Given the description of an element on the screen output the (x, y) to click on. 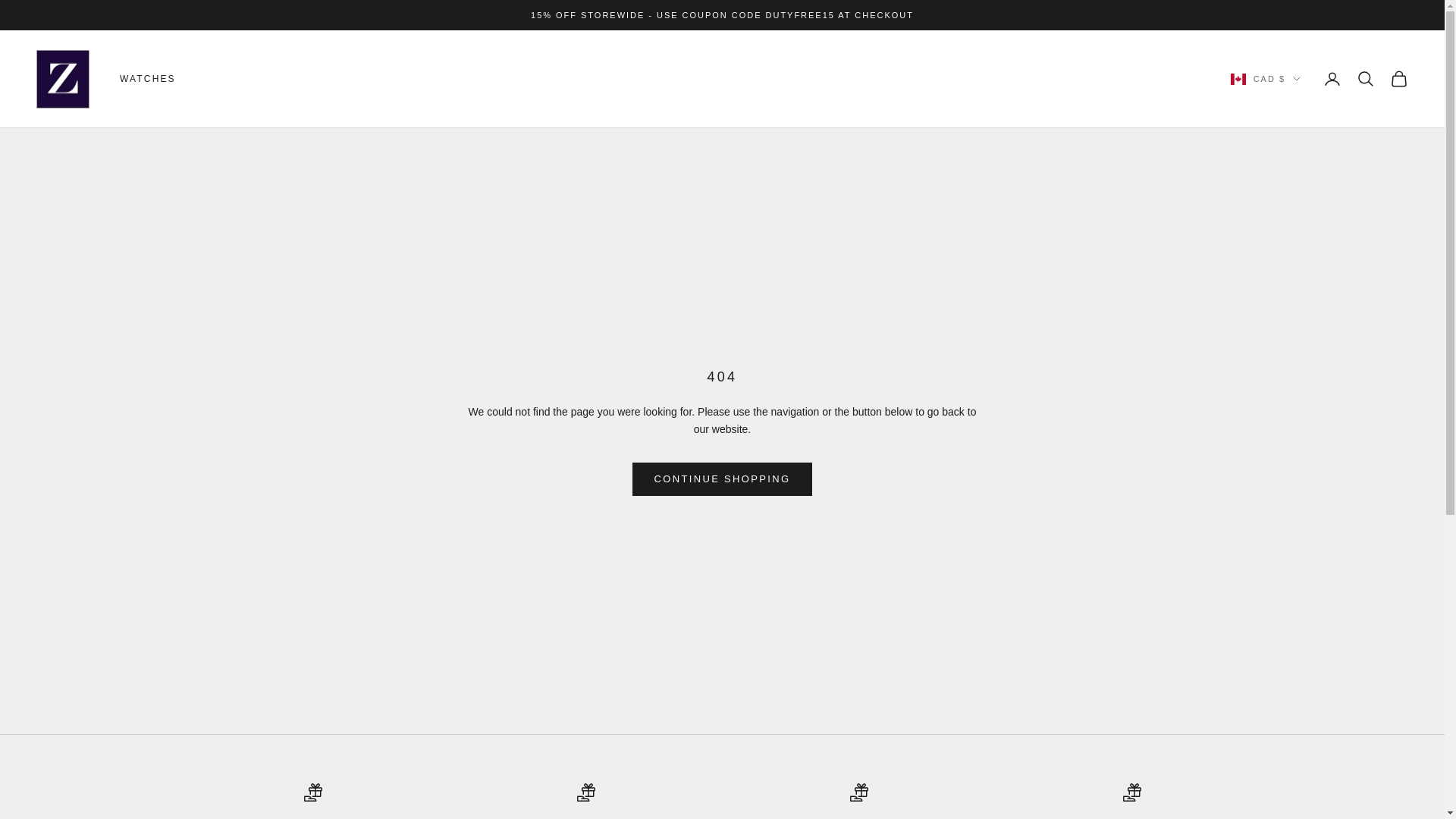
ZETA Shop (62, 78)
